Given the description of an element on the screen output the (x, y) to click on. 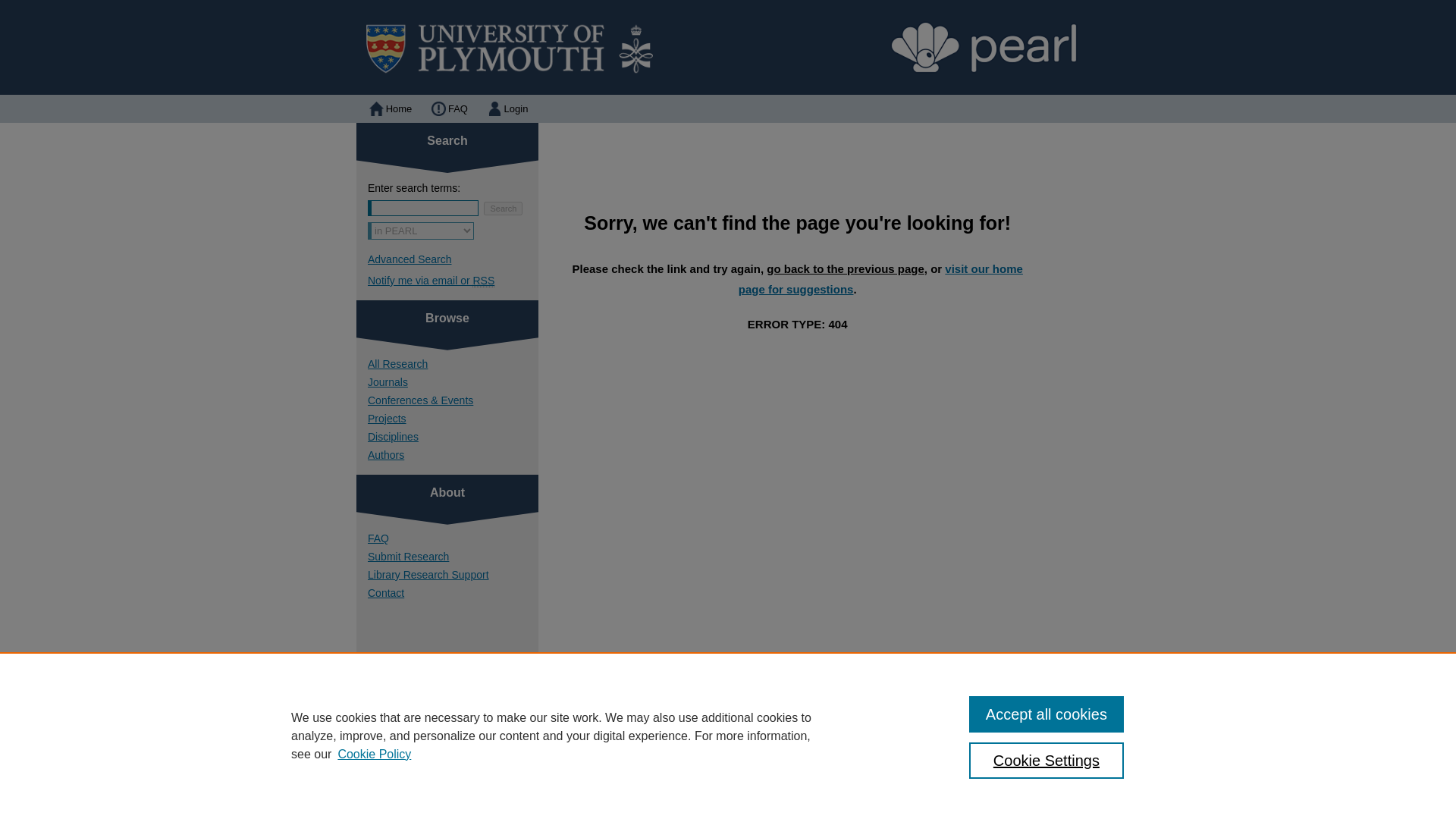
Login (507, 108)
Accessibility Statement (771, 779)
Cookie Settings (1046, 760)
Browse by Disciplines (453, 436)
FAQ (618, 779)
Contact (453, 592)
Search (502, 208)
Accept all cookies (1046, 714)
Disciplines (453, 436)
Notify me via email or RSS (453, 280)
Library Research Support (453, 574)
Login (507, 108)
Journals (453, 381)
FAQ (448, 108)
All Research (453, 363)
